Given the description of an element on the screen output the (x, y) to click on. 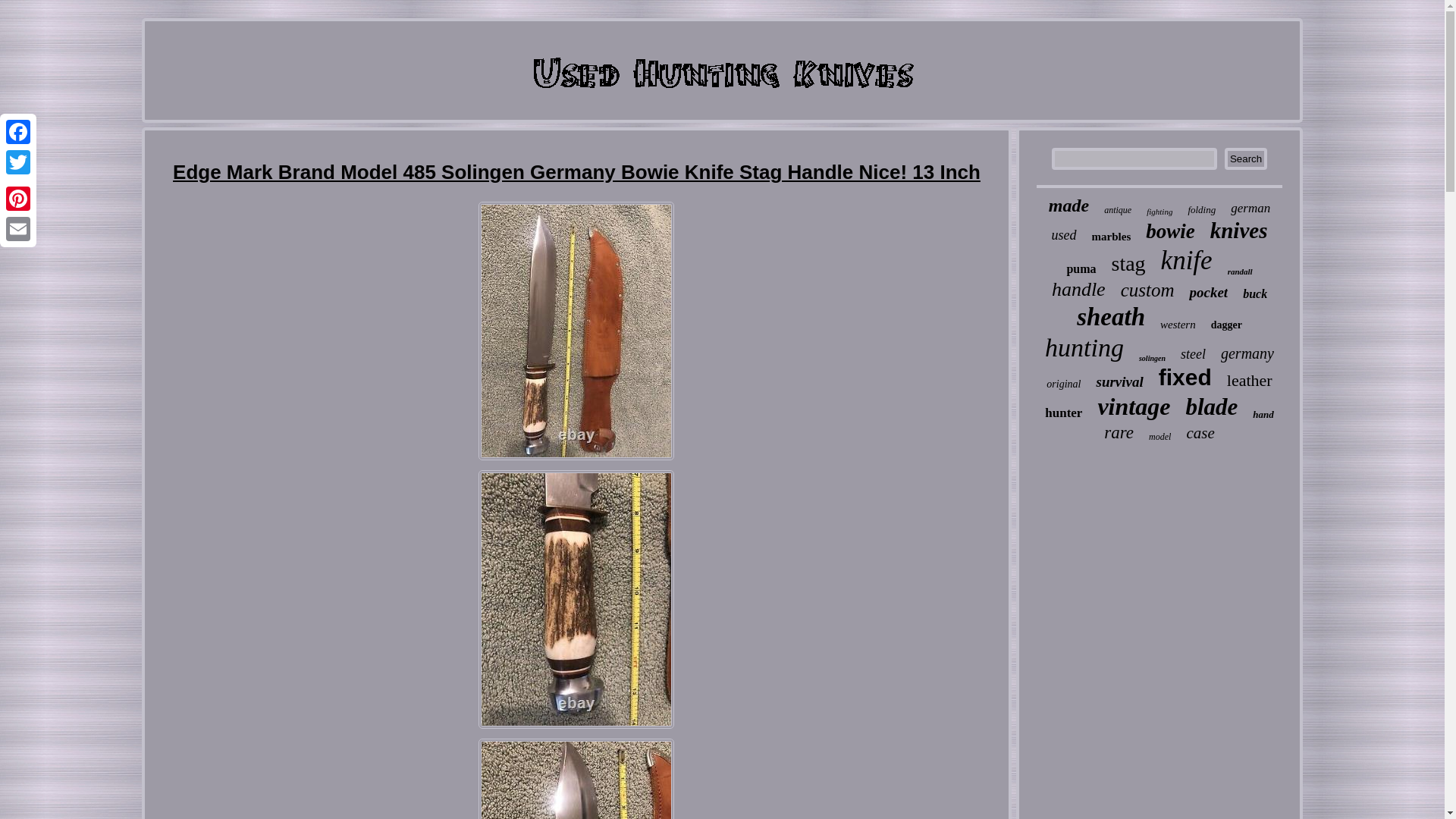
made (1068, 205)
Email (17, 228)
Facebook (17, 132)
antique (1117, 210)
marbles (1111, 236)
Twitter (17, 162)
Pinterest (17, 198)
Search (1245, 158)
used (1064, 235)
fighting (1159, 211)
puma (1080, 269)
knives (1238, 230)
german (1249, 208)
